Given the description of an element on the screen output the (x, y) to click on. 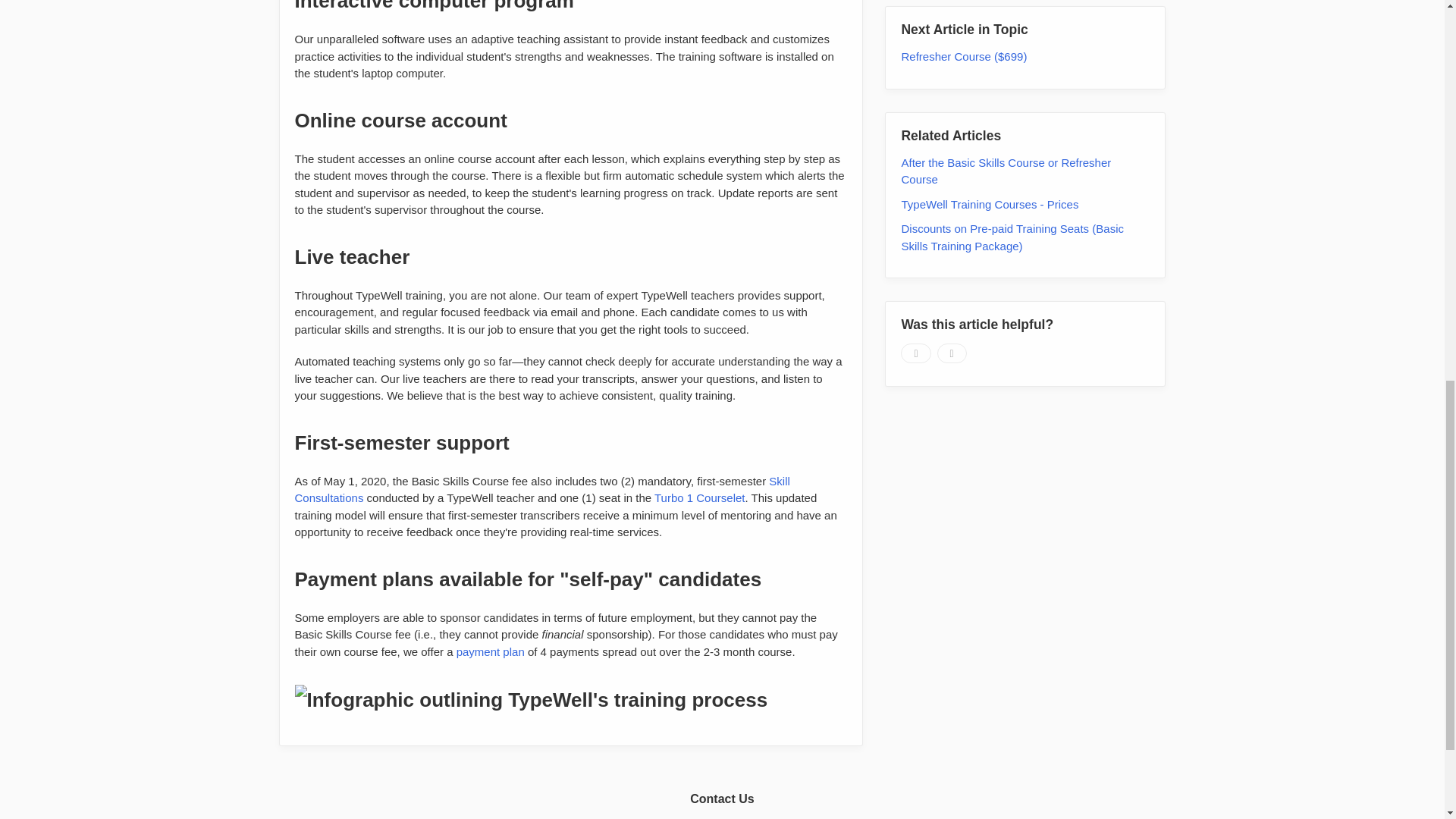
payment plan (490, 650)
Turbo 1 Courselet (699, 497)
Skill Consultations (541, 490)
